Given the description of an element on the screen output the (x, y) to click on. 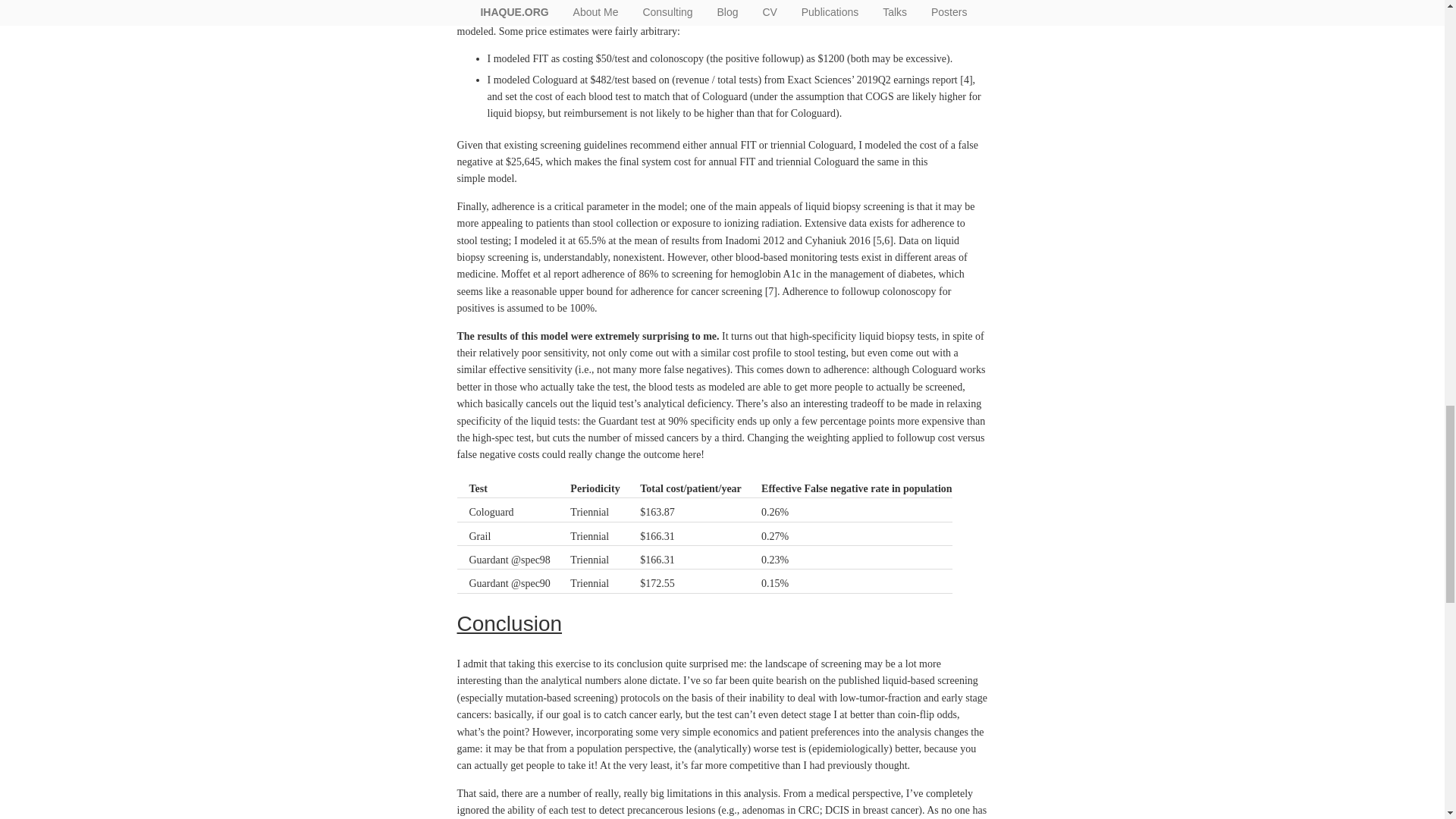
Conclusion (509, 623)
